Given the description of an element on the screen output the (x, y) to click on. 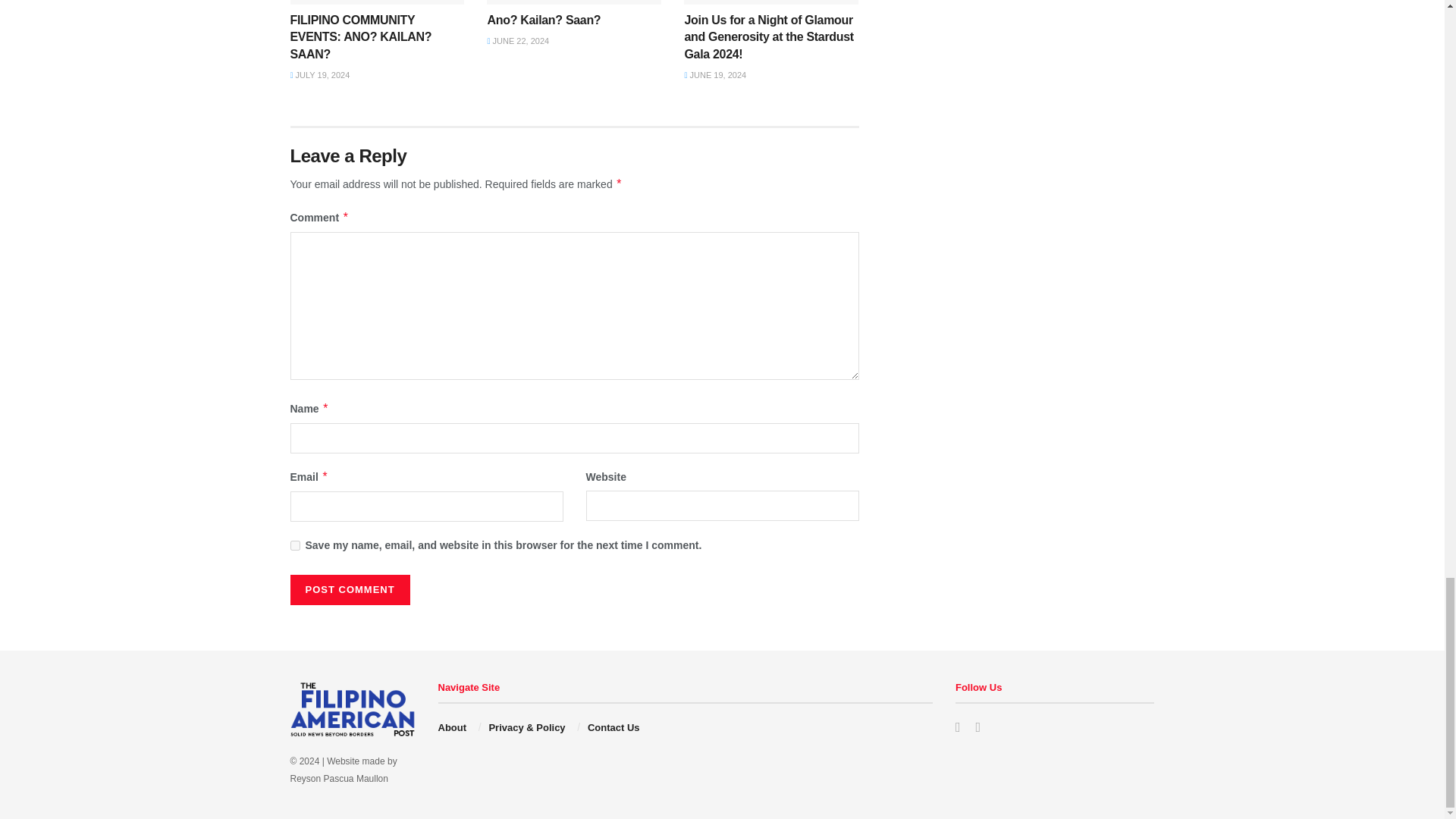
yes (294, 545)
Post Comment (349, 589)
